Given the description of an element on the screen output the (x, y) to click on. 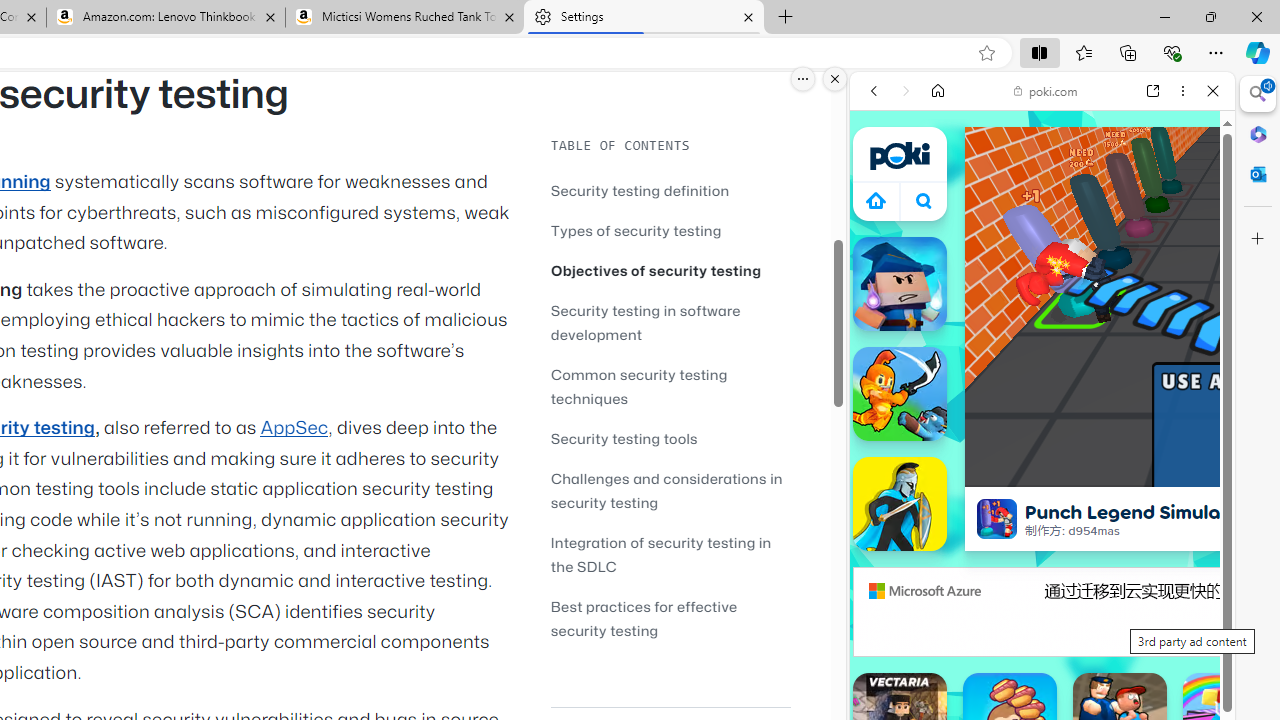
Sword Masters (899, 393)
Io Games (1042, 617)
Security testing definition (639, 190)
War of Sticks (899, 503)
MagicLand.io MagicLand.io (899, 283)
